Given the description of an element on the screen output the (x, y) to click on. 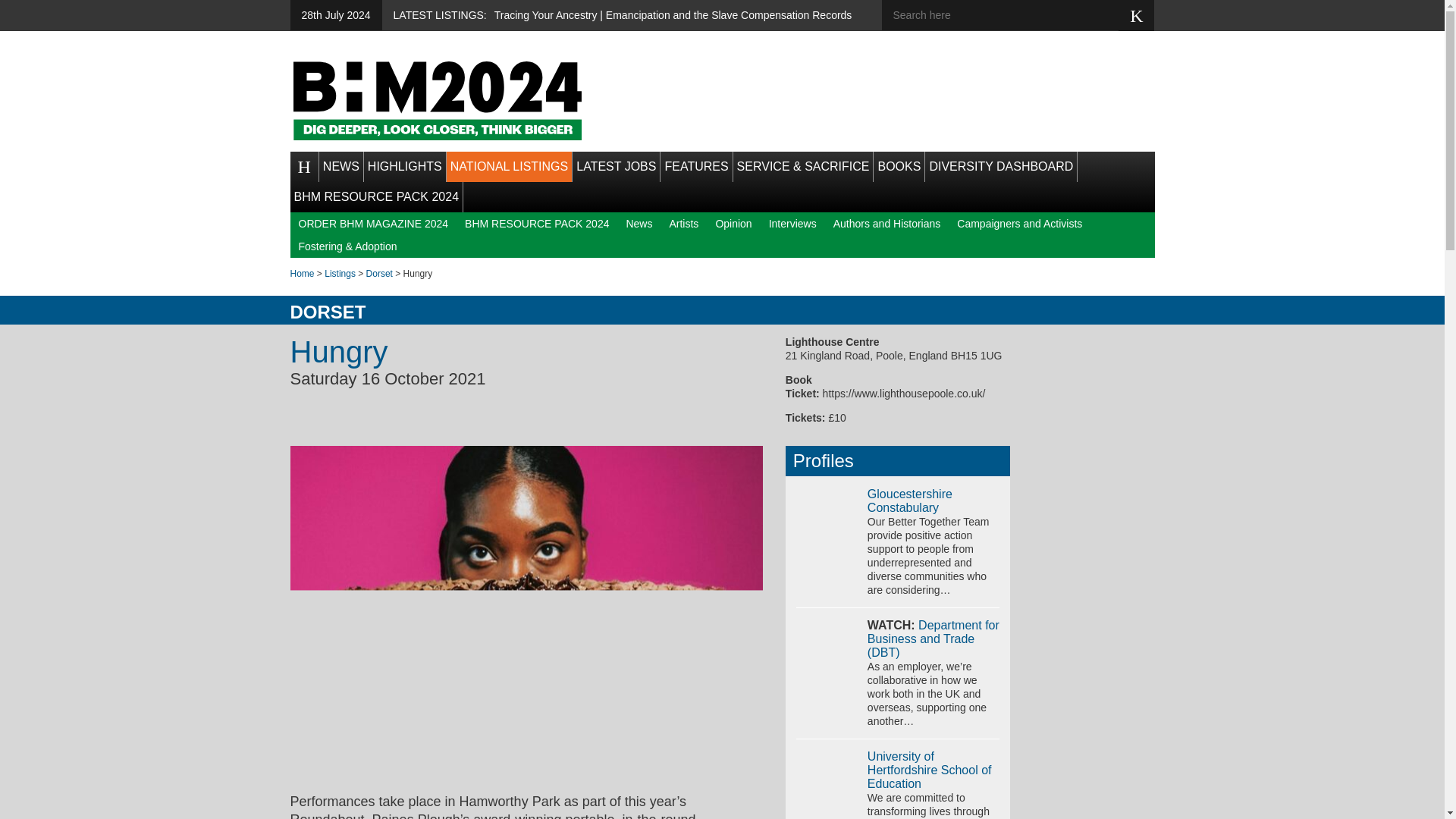
Black History Month 2024: Black History Month 2024 (437, 100)
University of Hertfordshire School of Education (929, 770)
Gloucestershire Constabulary (909, 500)
Search here (1010, 15)
